Given the description of an element on the screen output the (x, y) to click on. 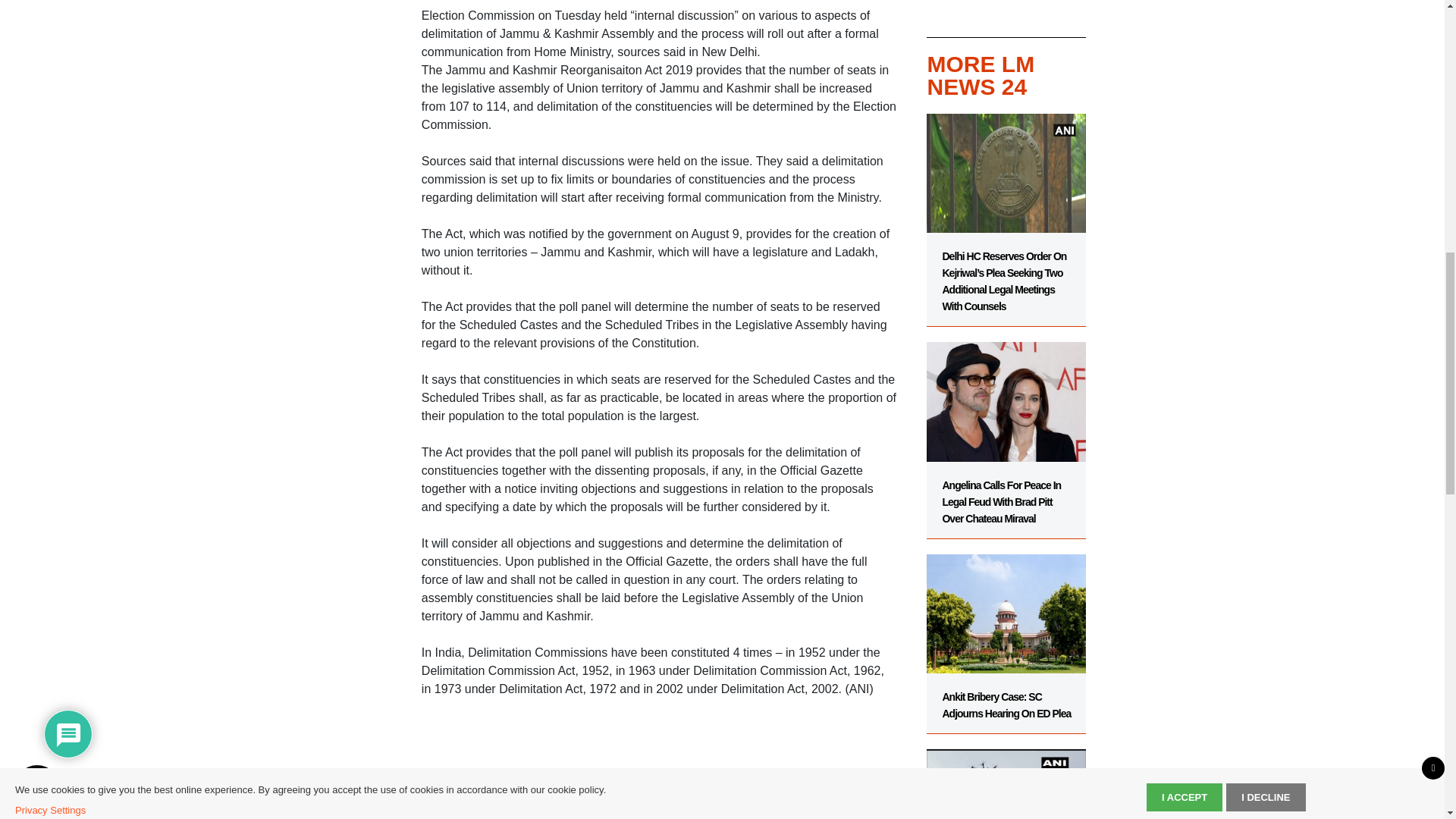
Ankit Bribery Case: SC Adjourns Hearing On ED Plea (1006, 636)
